Given the description of an element on the screen output the (x, y) to click on. 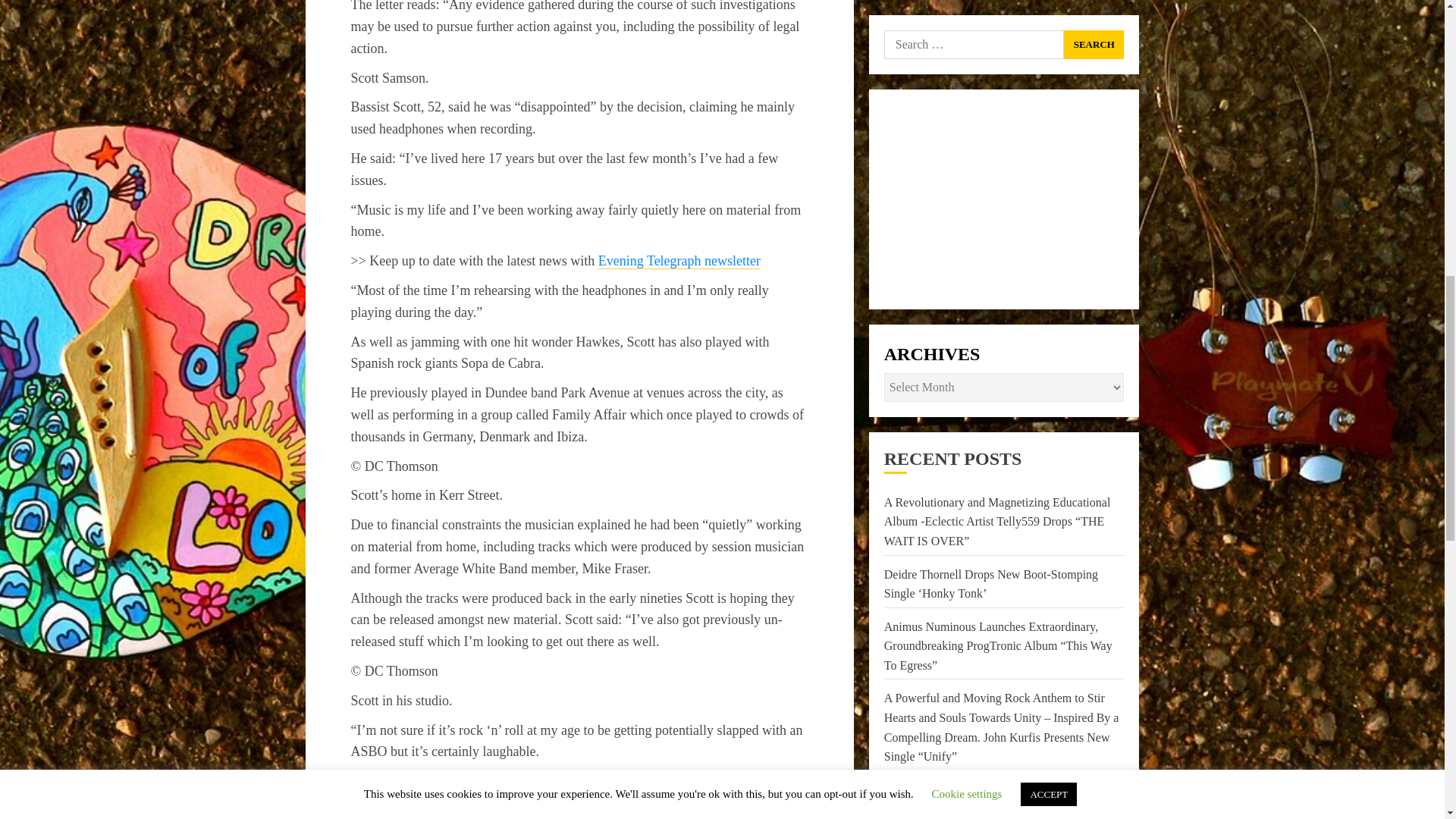
Evening Telegraph newsletter (679, 261)
